Given the description of an element on the screen output the (x, y) to click on. 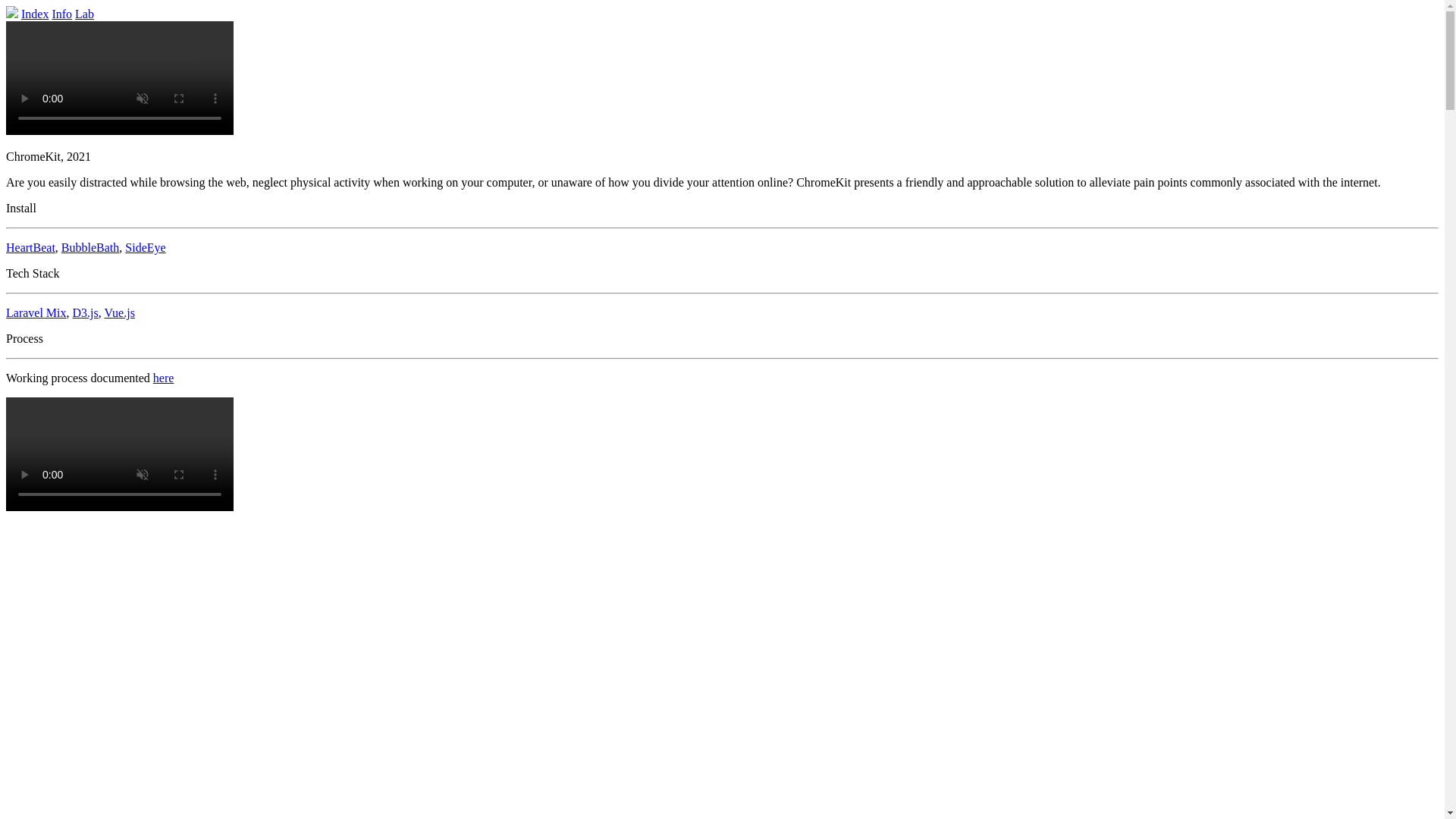
Lab (84, 13)
Laravel Mix (35, 312)
SideEye (145, 246)
Index (34, 13)
Info (60, 13)
D3.js (85, 312)
Vue.js (118, 312)
HeartBeat (30, 246)
here (163, 377)
BubbleBath (90, 246)
